Given the description of an element on the screen output the (x, y) to click on. 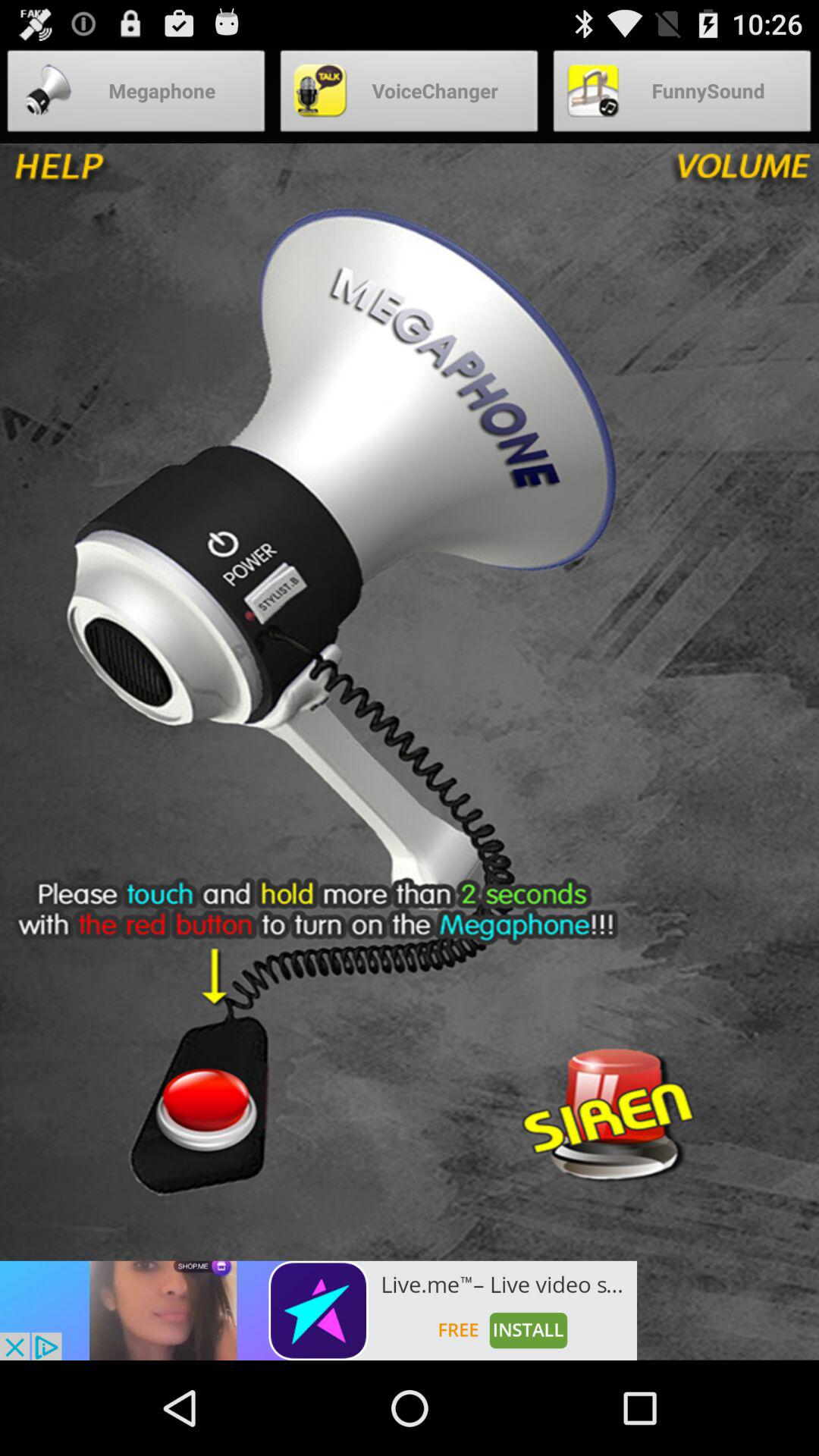
toggle on option (204, 1108)
